Given the description of an element on the screen output the (x, y) to click on. 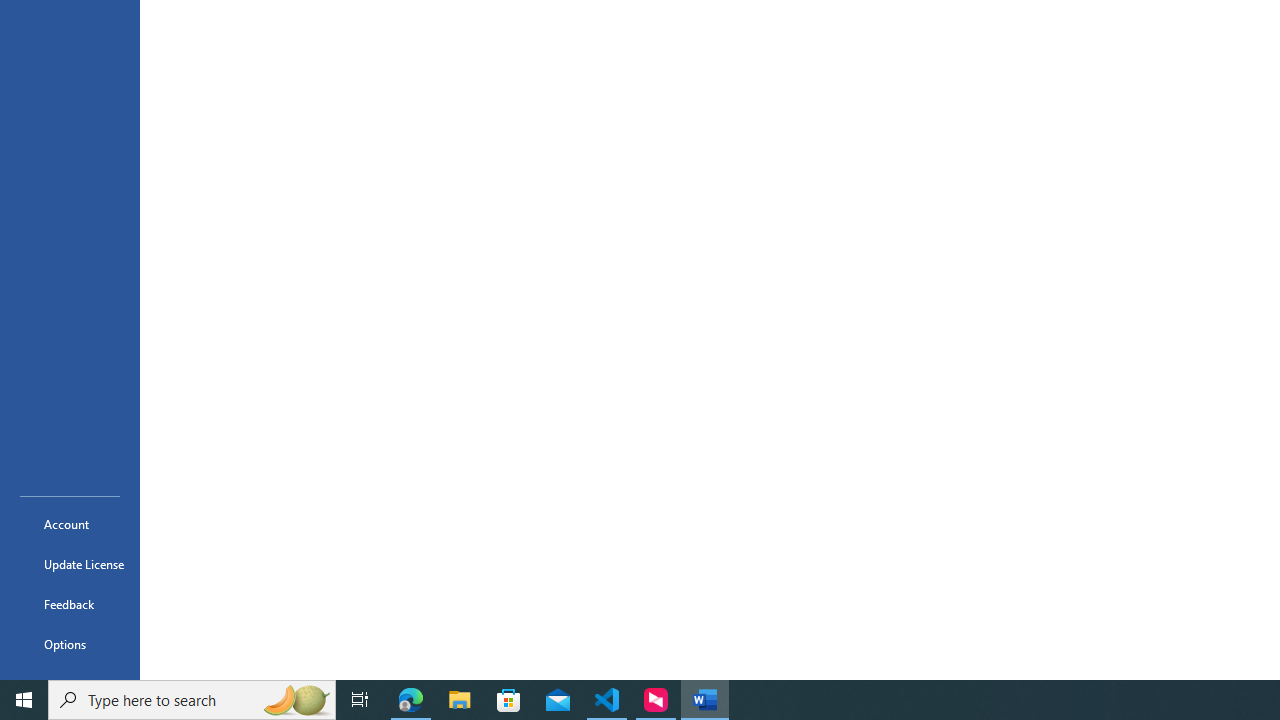
Feedback (69, 603)
Options (69, 643)
Account (69, 523)
Update License (69, 563)
